Given the description of an element on the screen output the (x, y) to click on. 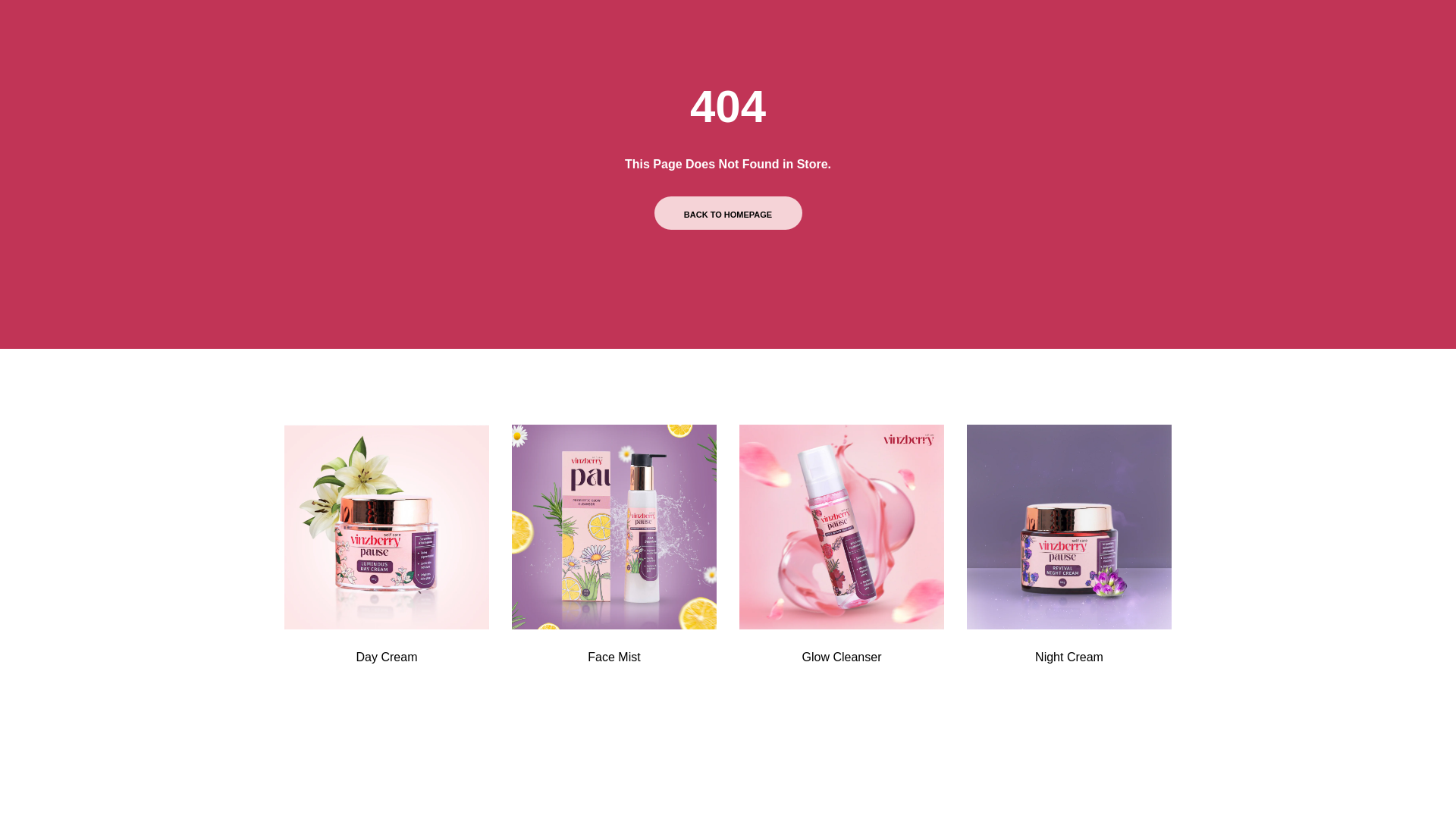
BACK TO HOMEPAGE (727, 213)
